Given the description of an element on the screen output the (x, y) to click on. 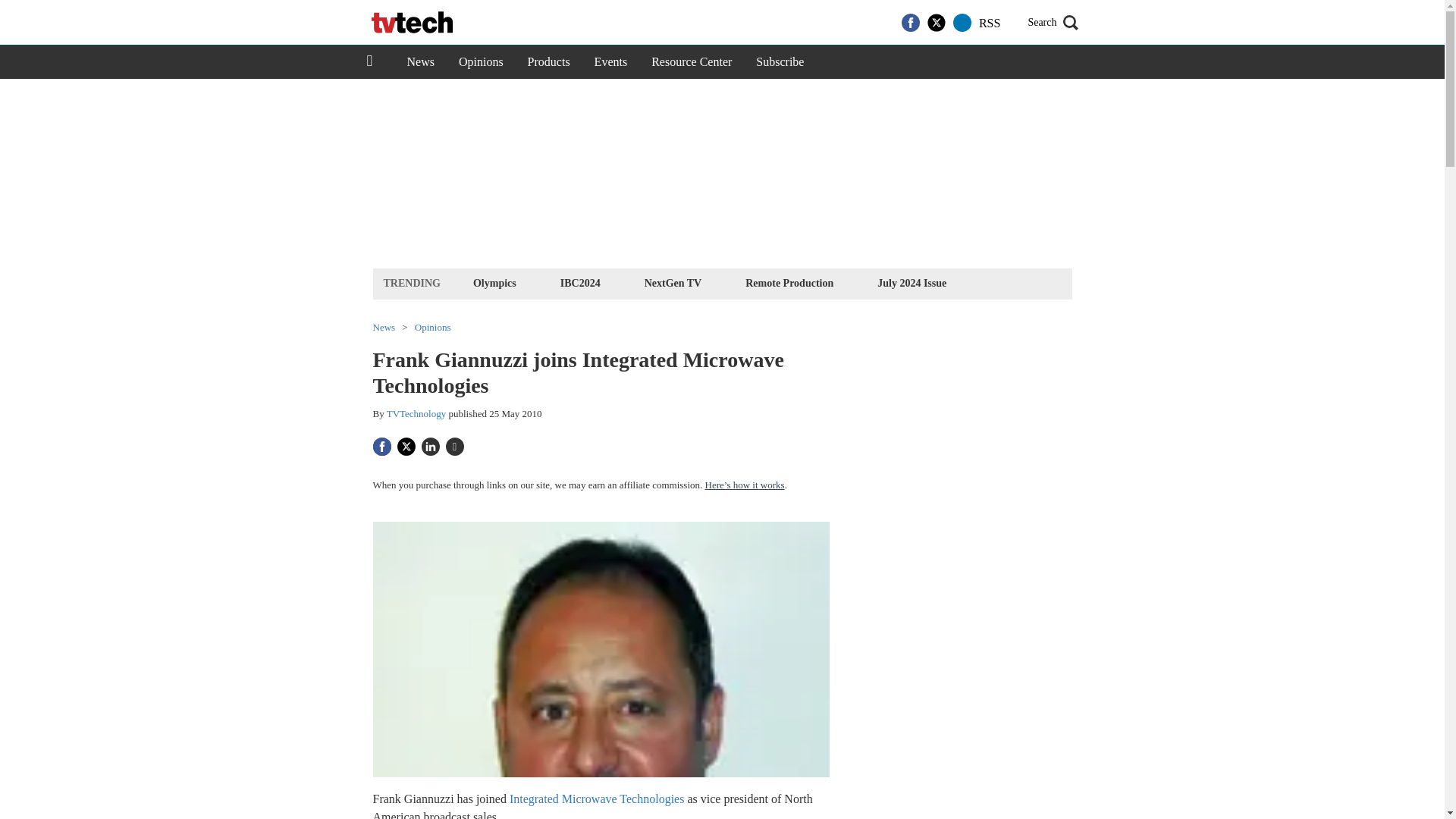
Resource Center (691, 61)
Products (548, 61)
Opinions (480, 61)
RSS (989, 22)
TVTechnology (416, 413)
Integrated Microwave Technologies (596, 798)
News (419, 61)
Olympics (494, 282)
Remote Production (788, 282)
Opinions (432, 327)
Events (611, 61)
Subscribe (779, 61)
NextGen TV (673, 282)
July 2024 Issue (912, 282)
IBC2024 (579, 282)
